Given the description of an element on the screen output the (x, y) to click on. 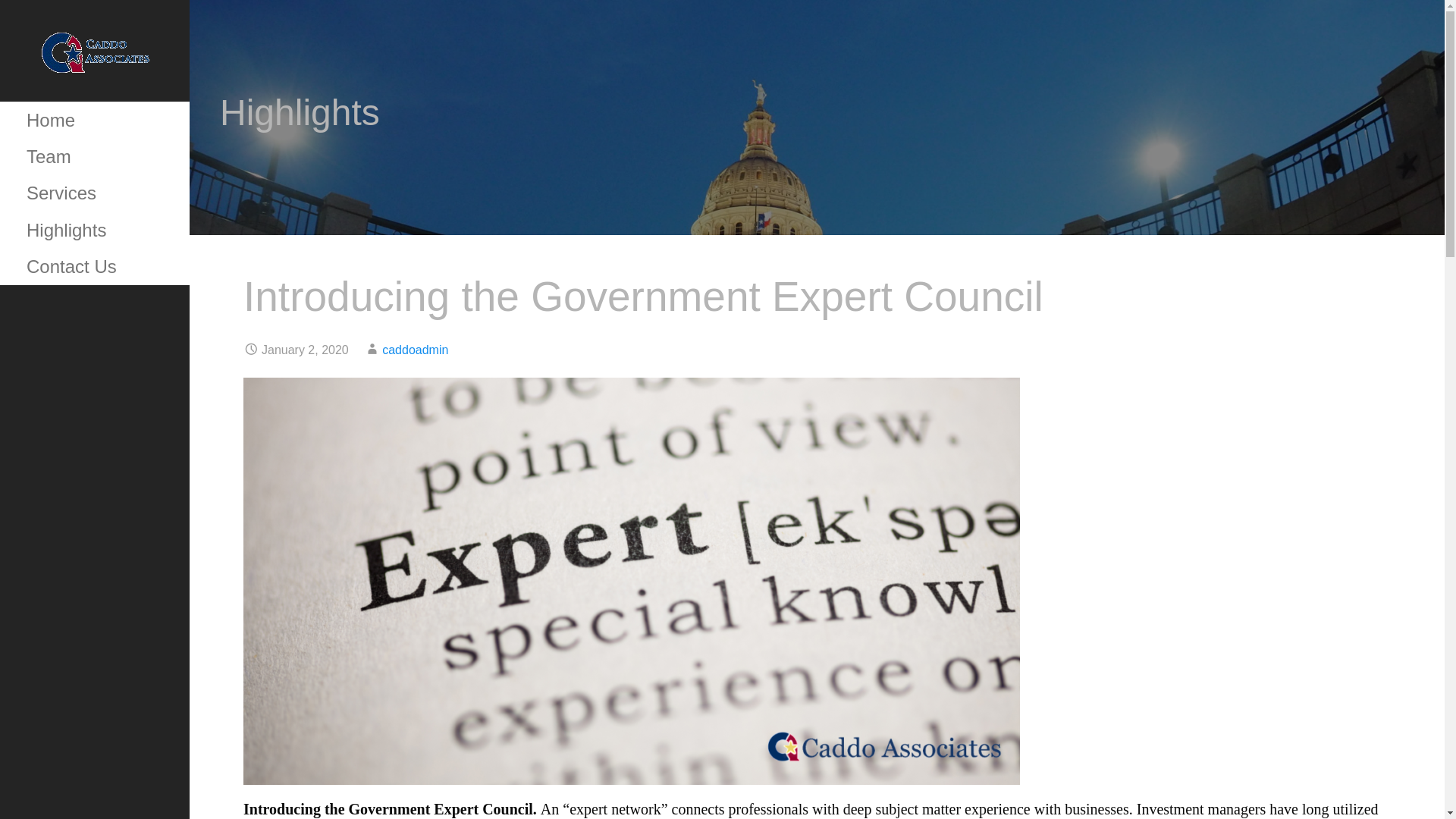
Posts by caddoadmin (414, 349)
Contact Us (94, 266)
caddoadmin (414, 349)
Services (94, 193)
Home (94, 120)
Team (94, 156)
CADDO ASSOCIATES (108, 100)
Highlights (94, 230)
